Given the description of an element on the screen output the (x, y) to click on. 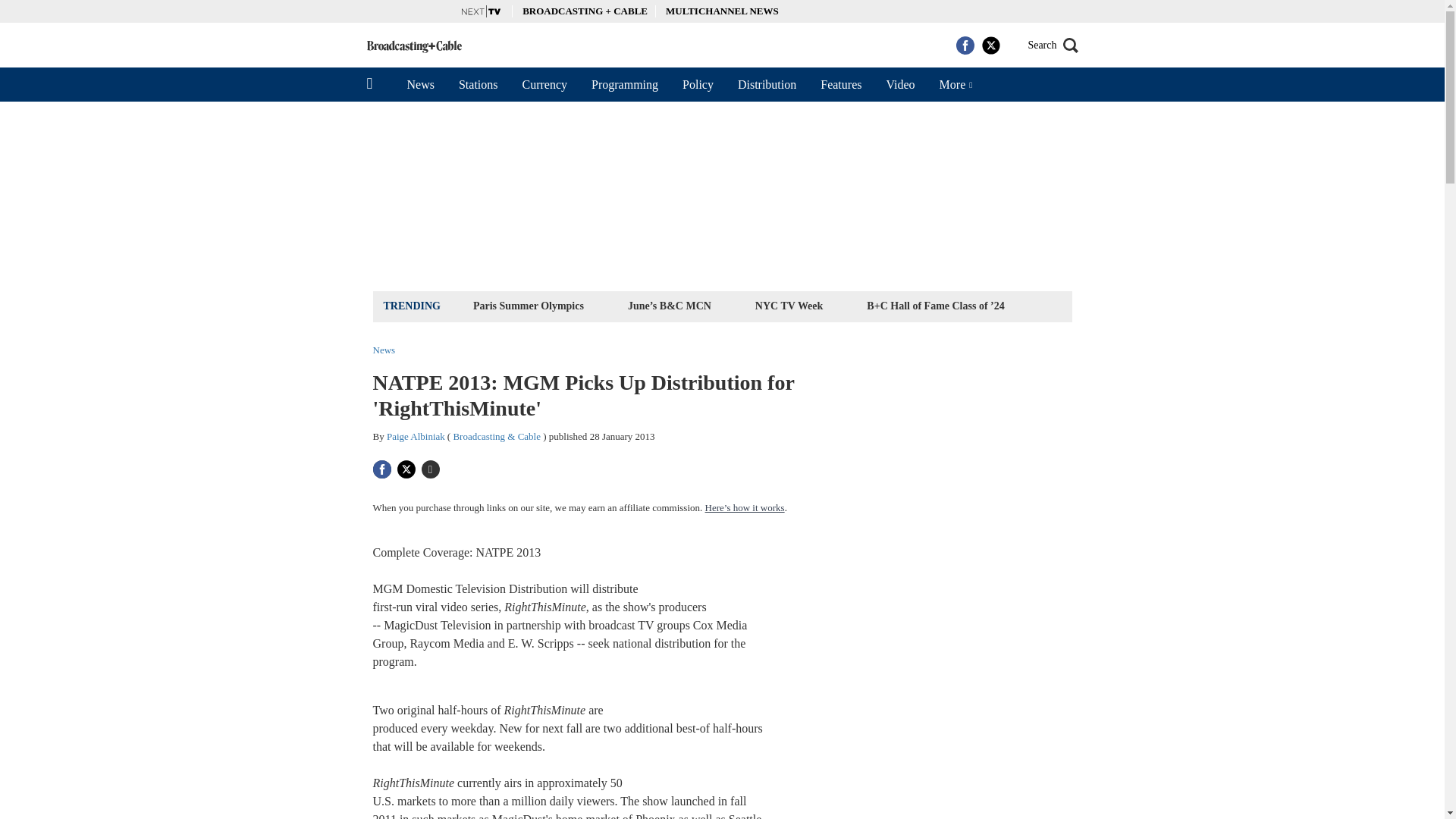
Distribution (766, 84)
Features (840, 84)
Video (899, 84)
Stations (478, 84)
MULTICHANNEL NEWS (721, 10)
Programming (624, 84)
News (419, 84)
Currency (544, 84)
Paige Albiniak (416, 436)
Policy (697, 84)
NYC TV Week (788, 305)
Paris Summer Olympics (528, 305)
